Given the description of an element on the screen output the (x, y) to click on. 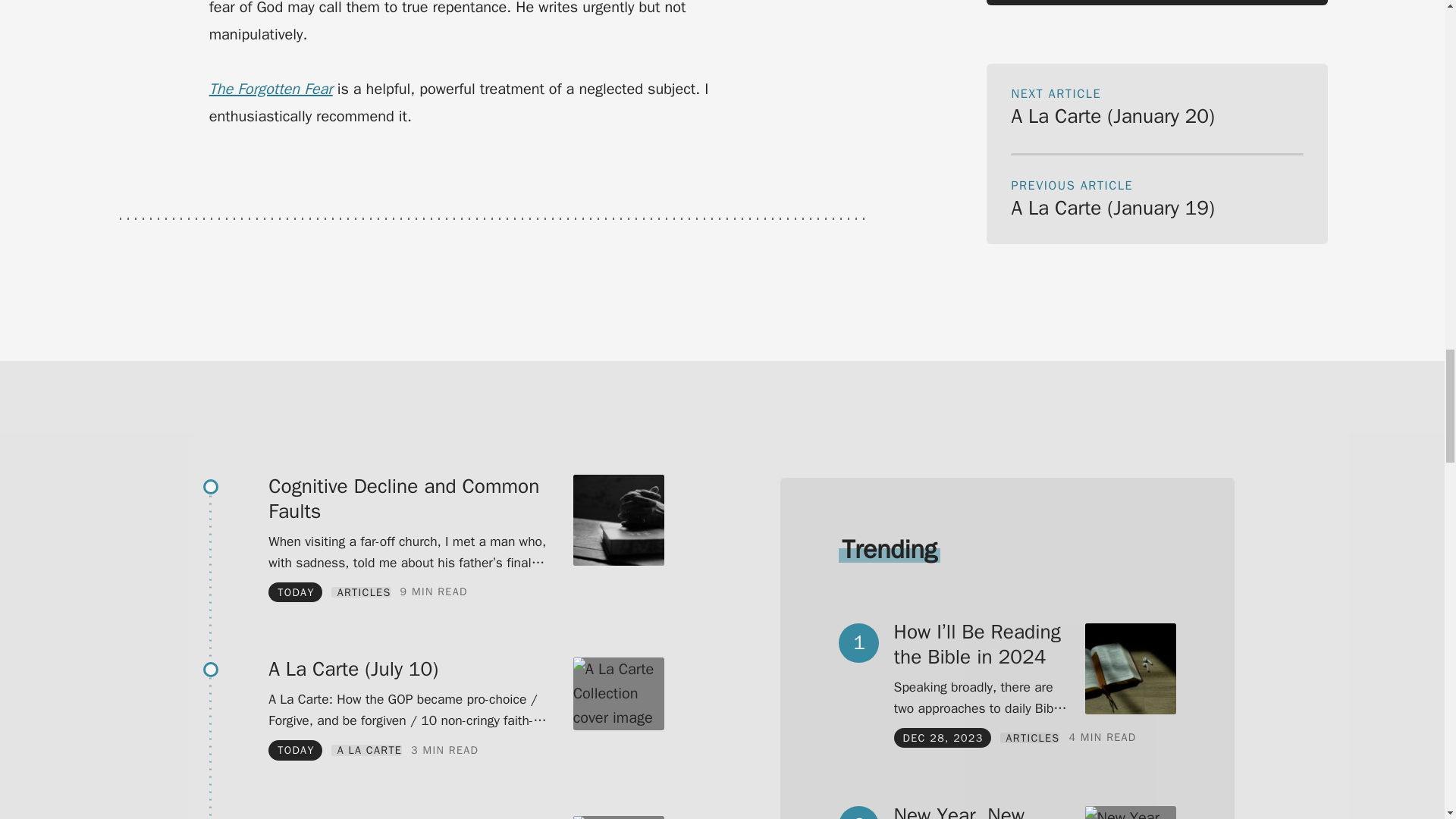
1510 words (433, 591)
The Forgotten Fear (271, 88)
Jul 10, 2024 at 12:02 am (296, 591)
Jul 10, 2024 at 12:01 am (296, 749)
471 words (444, 749)
